Given the description of an element on the screen output the (x, y) to click on. 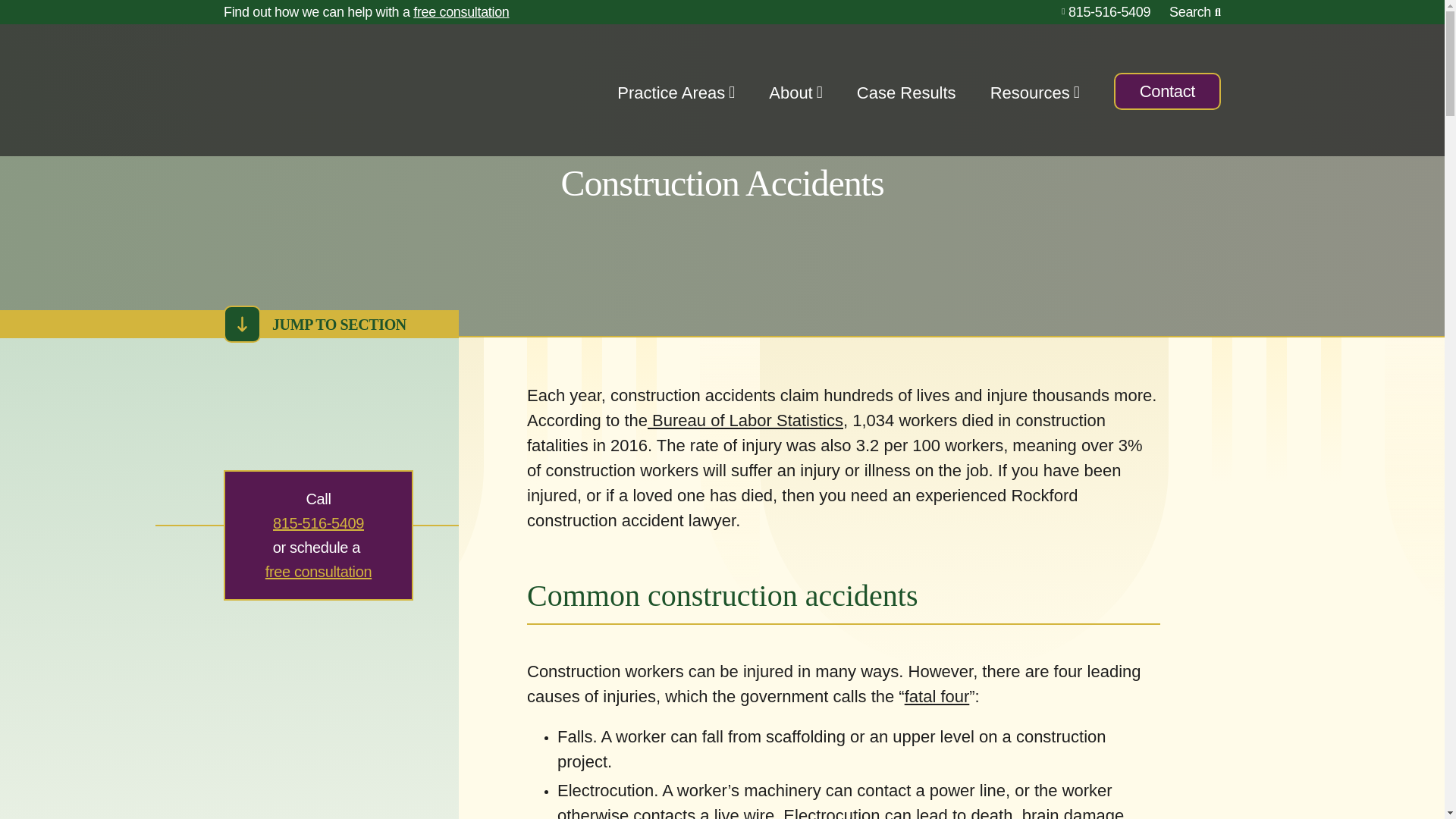
fatal four (936, 696)
Resources (1030, 95)
About (790, 95)
Search (1195, 12)
Contact (1167, 90)
free consultation (460, 11)
 Bureau of Labor Statistics (745, 420)
Practice Areas (671, 95)
815-516-5409 (318, 523)
free consultation (318, 571)
